Given the description of an element on the screen output the (x, y) to click on. 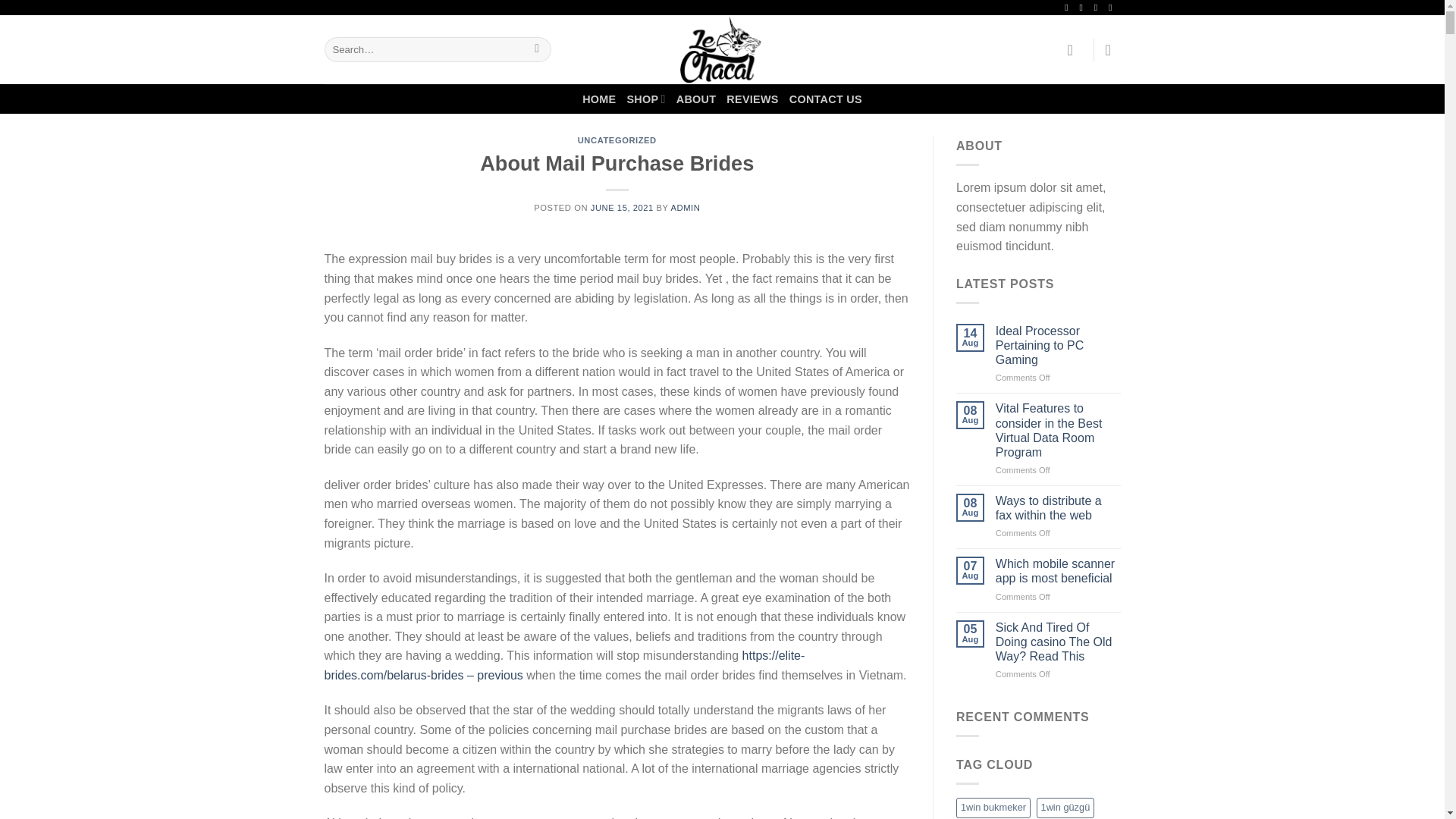
REVIEWS (751, 98)
ADMIN (684, 207)
UNCATEGORIZED (617, 139)
JUNE 15, 2021 (622, 207)
Sick And Tired Of Doing casino The Old Way? Read This (1058, 641)
Ideal Processor Pertaining to PC Gaming (1058, 345)
Follow on Facebook (1069, 7)
HOME (598, 98)
Follow on Instagram (1084, 7)
CONTACT US (825, 98)
Search (537, 49)
ABOUT (696, 98)
Ways to distribute a fax within the web (1058, 507)
